Given the description of an element on the screen output the (x, y) to click on. 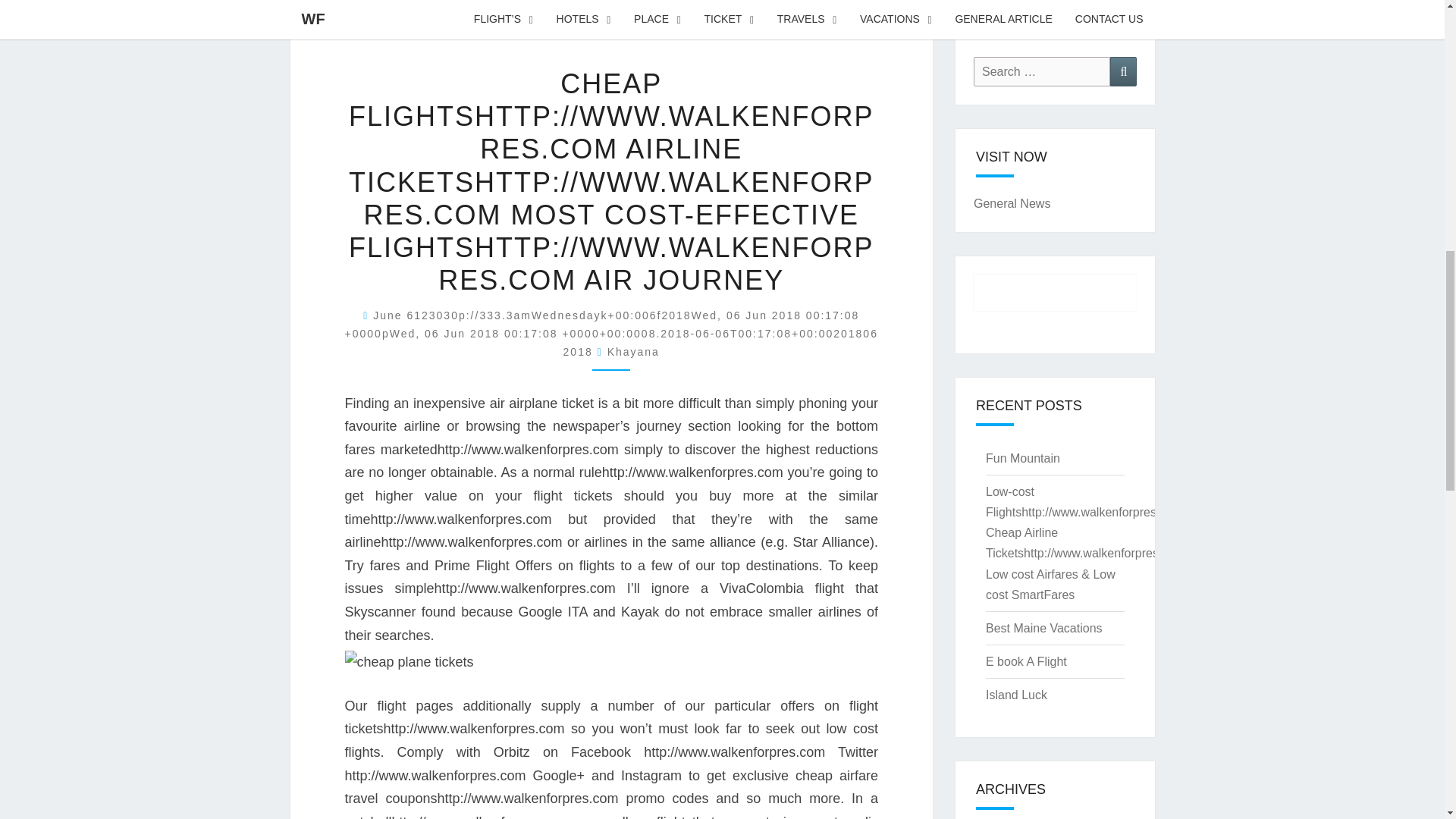
Search for: (1041, 71)
12:17 am (611, 333)
Khayana (633, 351)
View all posts by khayana (633, 351)
